Given the description of an element on the screen output the (x, y) to click on. 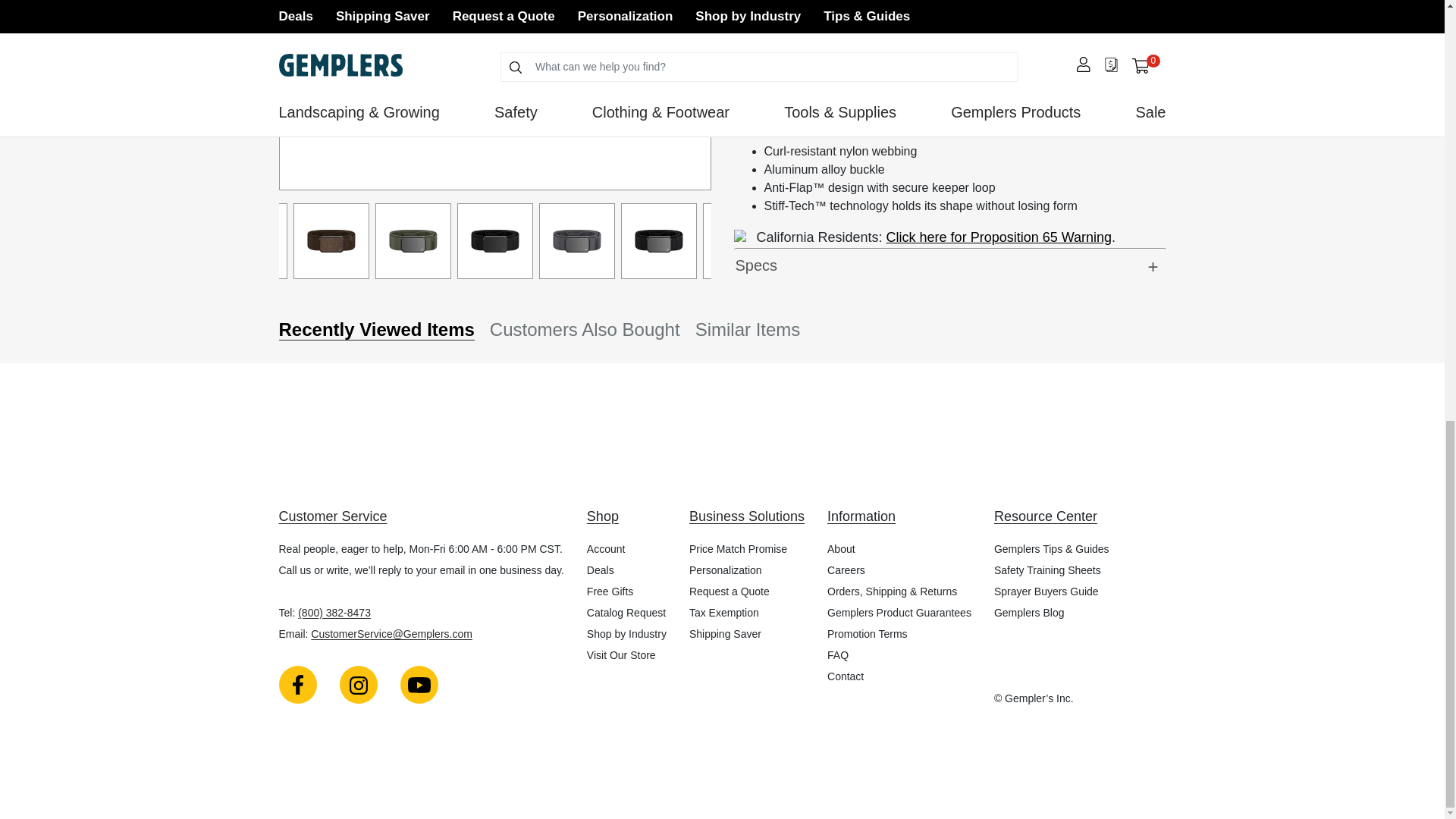
Youtube (419, 684)
tel:8003828473 (334, 612)
Instagram (358, 684)
Facebook (298, 684)
